Given the description of an element on the screen output the (x, y) to click on. 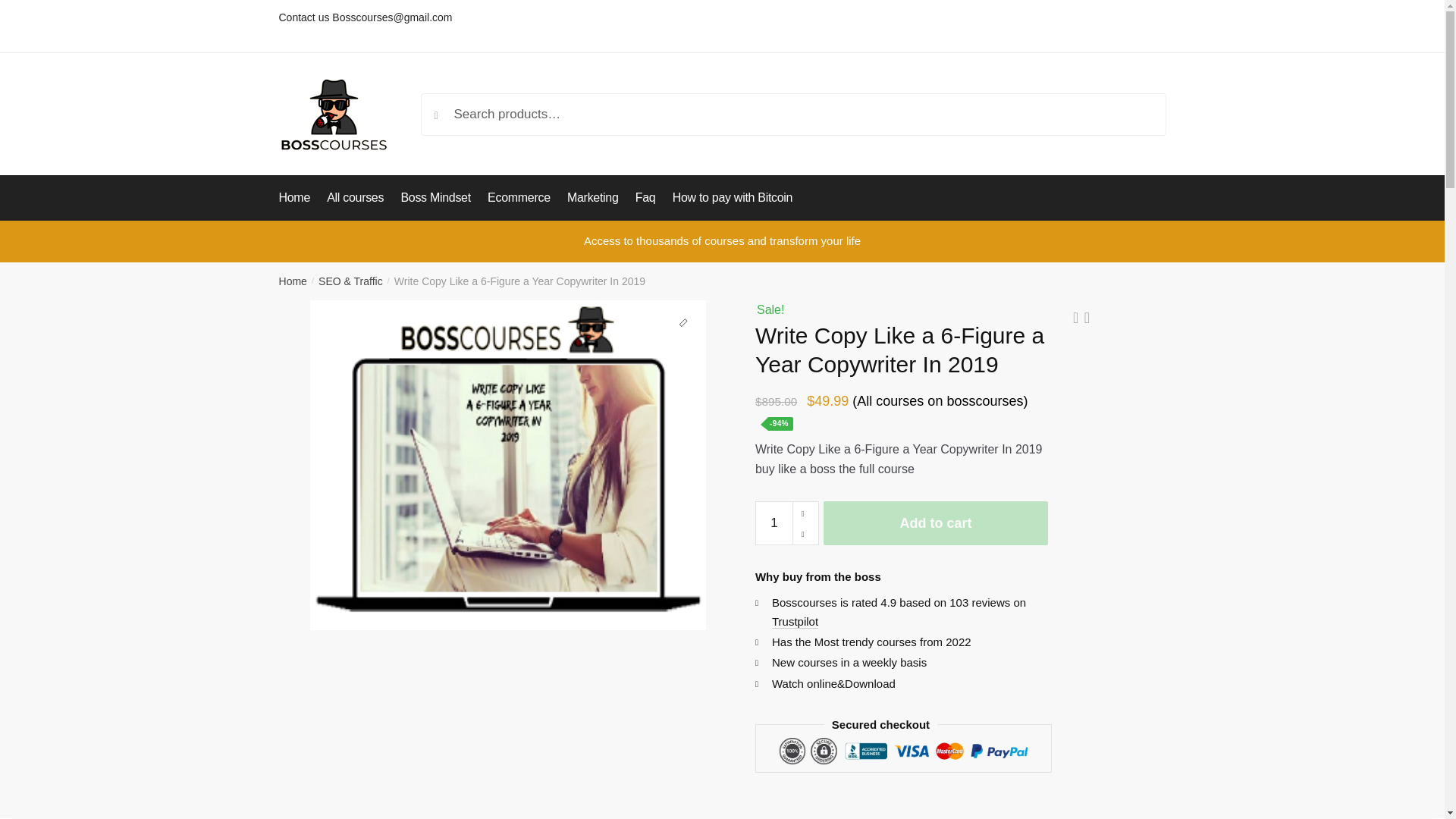
Boss Mindset (436, 197)
All courses (354, 197)
Search (452, 108)
Home (293, 281)
Marketing (592, 197)
Add to cart (936, 523)
Write Copy Like a 6-Figure a Year Copywriter In 2019 Logo (507, 464)
Ecommerce (518, 197)
Trustpilot (794, 621)
How to pay with Bitcoin (731, 197)
